Given the description of an element on the screen output the (x, y) to click on. 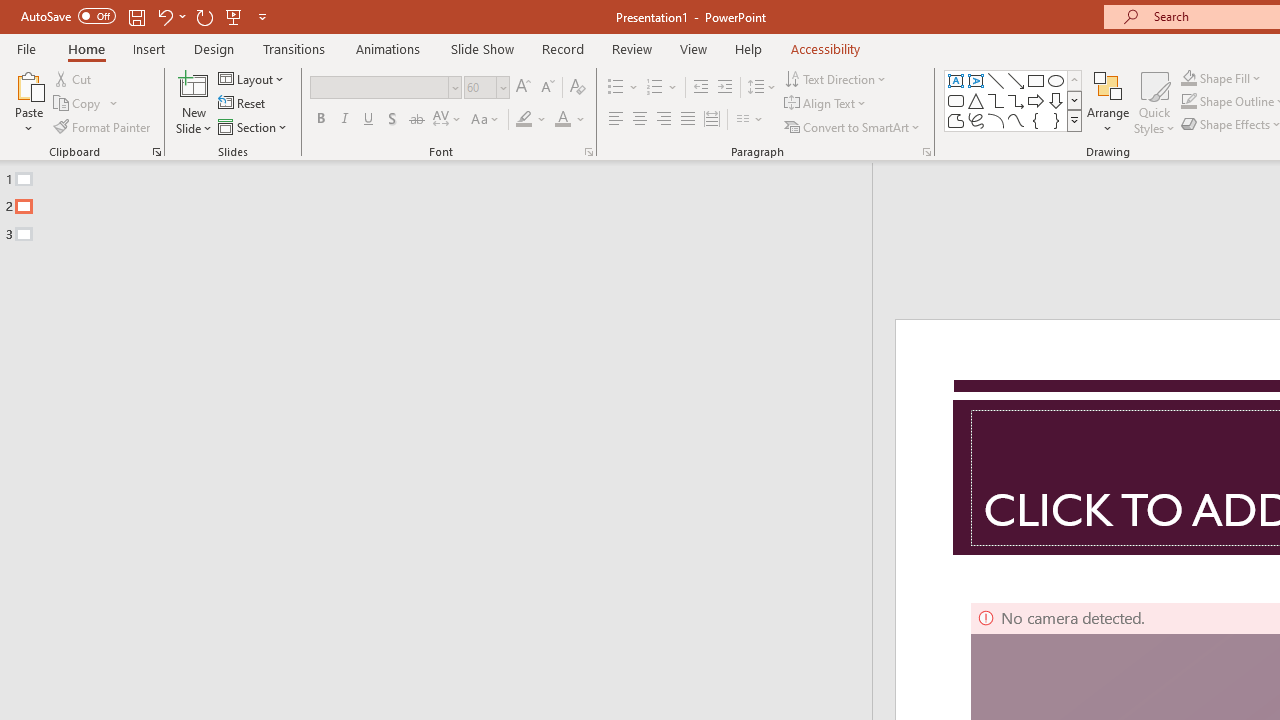
Numbering (661, 87)
From Beginning (234, 15)
Text Box (955, 80)
Connector: Elbow Arrow (1016, 100)
Redo (204, 15)
Rectangle: Rounded Corners (955, 100)
Shadow (392, 119)
Reset (243, 103)
Center (639, 119)
Font Size (486, 87)
Record (562, 48)
AutomationID: ShapesInsertGallery (1014, 100)
